Given the description of an element on the screen output the (x, y) to click on. 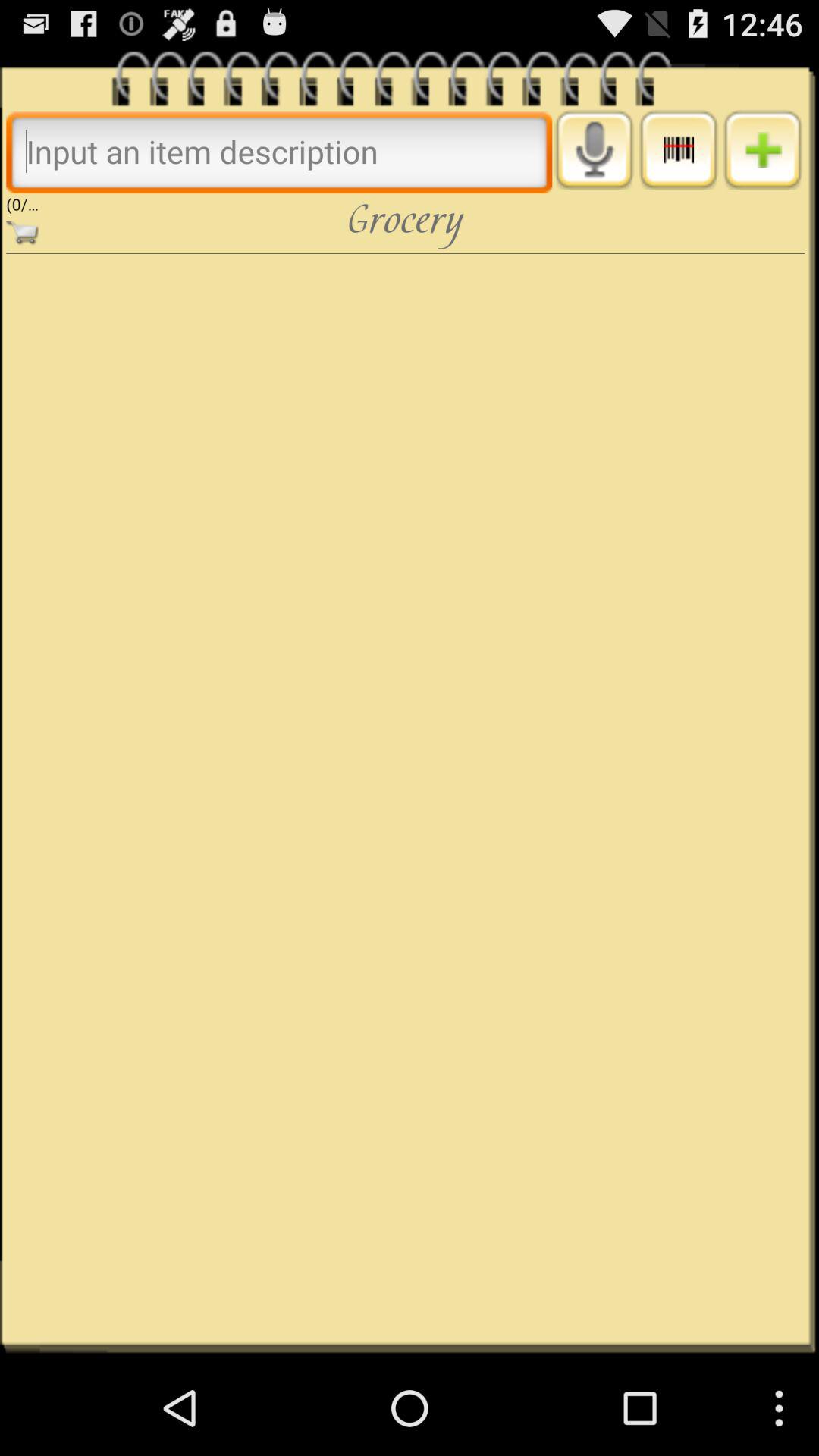
activate voice input (594, 149)
